Given the description of an element on the screen output the (x, y) to click on. 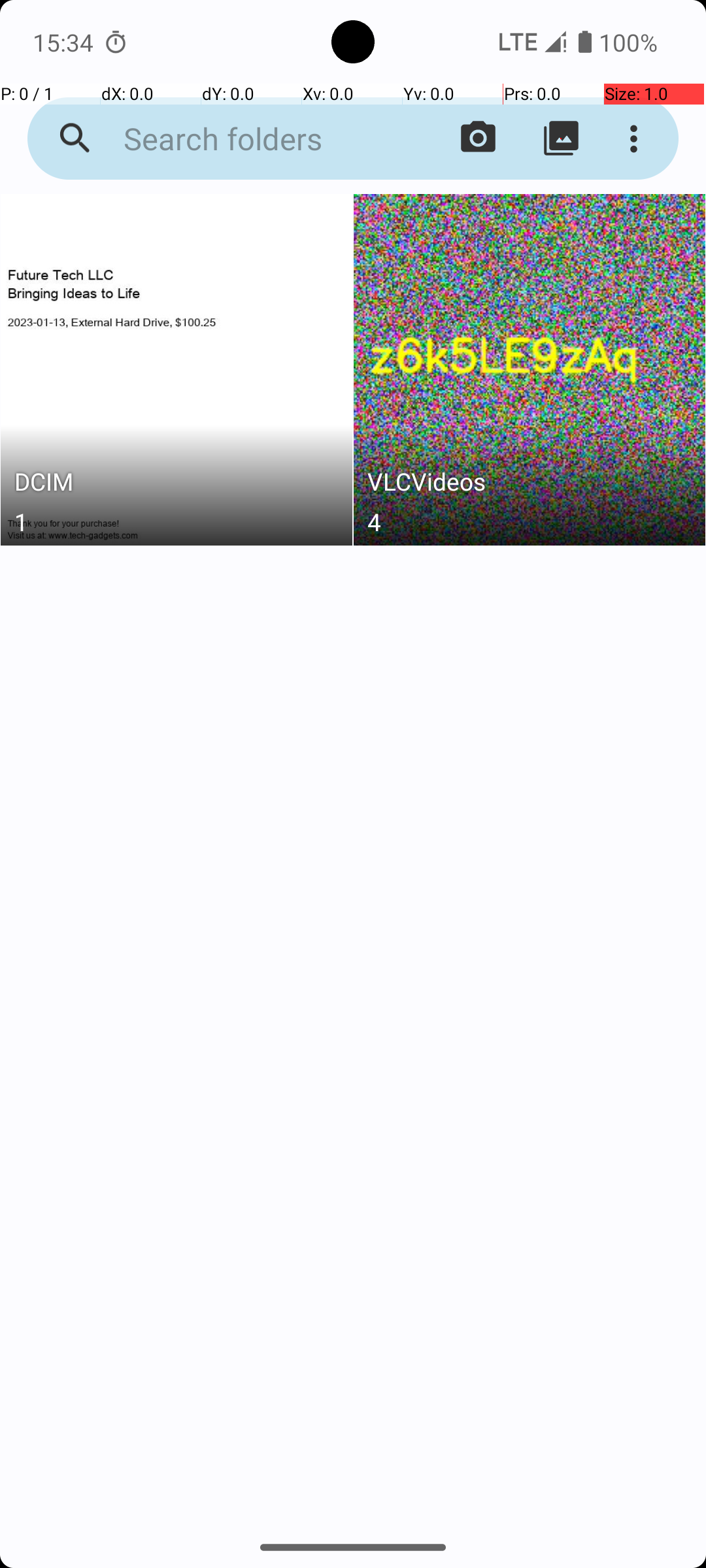
Open camera Element type: android.widget.Button (477, 138)
Show all folders content Element type: android.widget.Button (560, 138)
VLCVideos Element type: android.widget.TextView (529, 484)
